Given the description of an element on the screen output the (x, y) to click on. 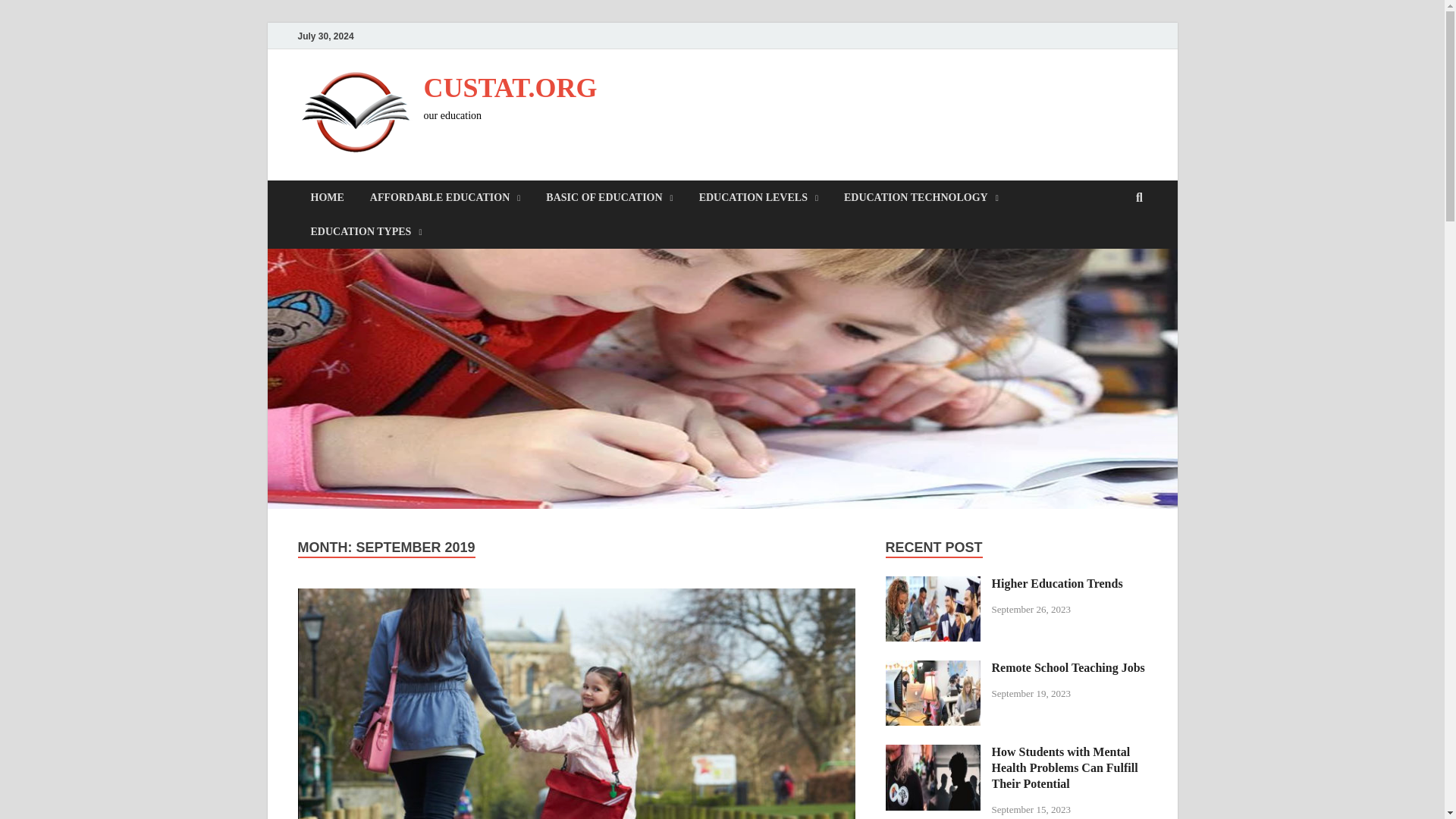
EDUCATION TECHNOLOGY (921, 197)
EDUCATION TYPES (365, 231)
AFFORDABLE EDUCATION (445, 197)
HOME (326, 197)
Remote School Teaching Jobs (932, 668)
BASIC OF EDUCATION (608, 197)
EDUCATION LEVELS (758, 197)
Higher Education Trends (932, 584)
Parents Who Take Their Kids To School (575, 703)
CUSTAT.ORG (509, 87)
